Given the description of an element on the screen output the (x, y) to click on. 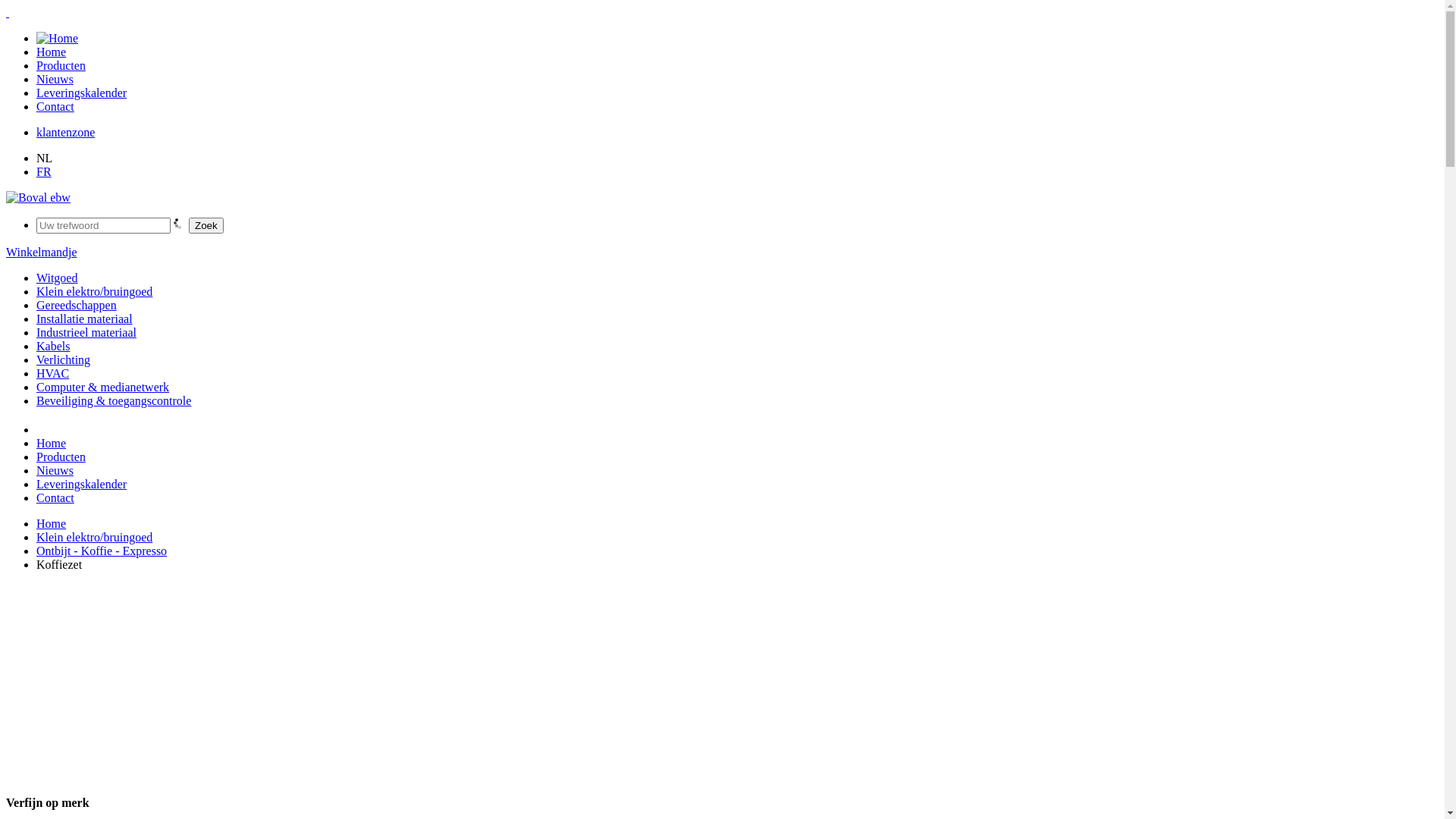
Contact Element type: text (55, 497)
Witgoed Element type: text (56, 277)
Producten Element type: text (60, 456)
Home Element type: text (50, 442)
Ontbijt - Koffie - Expresso Element type: text (101, 550)
Home Element type: text (50, 523)
  Element type: text (7, 12)
Leveringskalender Element type: text (81, 483)
Installatie materiaal Element type: text (84, 318)
Industrieel materiaal Element type: text (86, 332)
Nieuws Element type: text (54, 78)
Computer & medianetwerk Element type: text (102, 386)
Kabels Element type: text (52, 345)
Uw trefwoord Element type: hover (103, 225)
klantenzone Element type: text (65, 131)
Beveiliging & toegangscontrole Element type: text (113, 400)
Winkelmandje Element type: text (41, 251)
Producten Element type: text (60, 65)
FR Element type: text (43, 171)
HVAC Element type: text (52, 373)
Boval ebw Element type: hover (38, 197)
Klein elektro/bruingoed Element type: text (94, 536)
Klein elektro/bruingoed Element type: text (94, 291)
Contact Element type: text (55, 106)
Boval ebw Element type: hover (38, 197)
Zoek Element type: hover (205, 225)
Home Element type: text (50, 51)
Nieuws Element type: text (54, 470)
Leveringskalender Element type: text (81, 92)
Gereedschappen Element type: text (76, 304)
Verlichting Element type: text (63, 359)
Zoek Element type: text (205, 225)
